Given the description of an element on the screen output the (x, y) to click on. 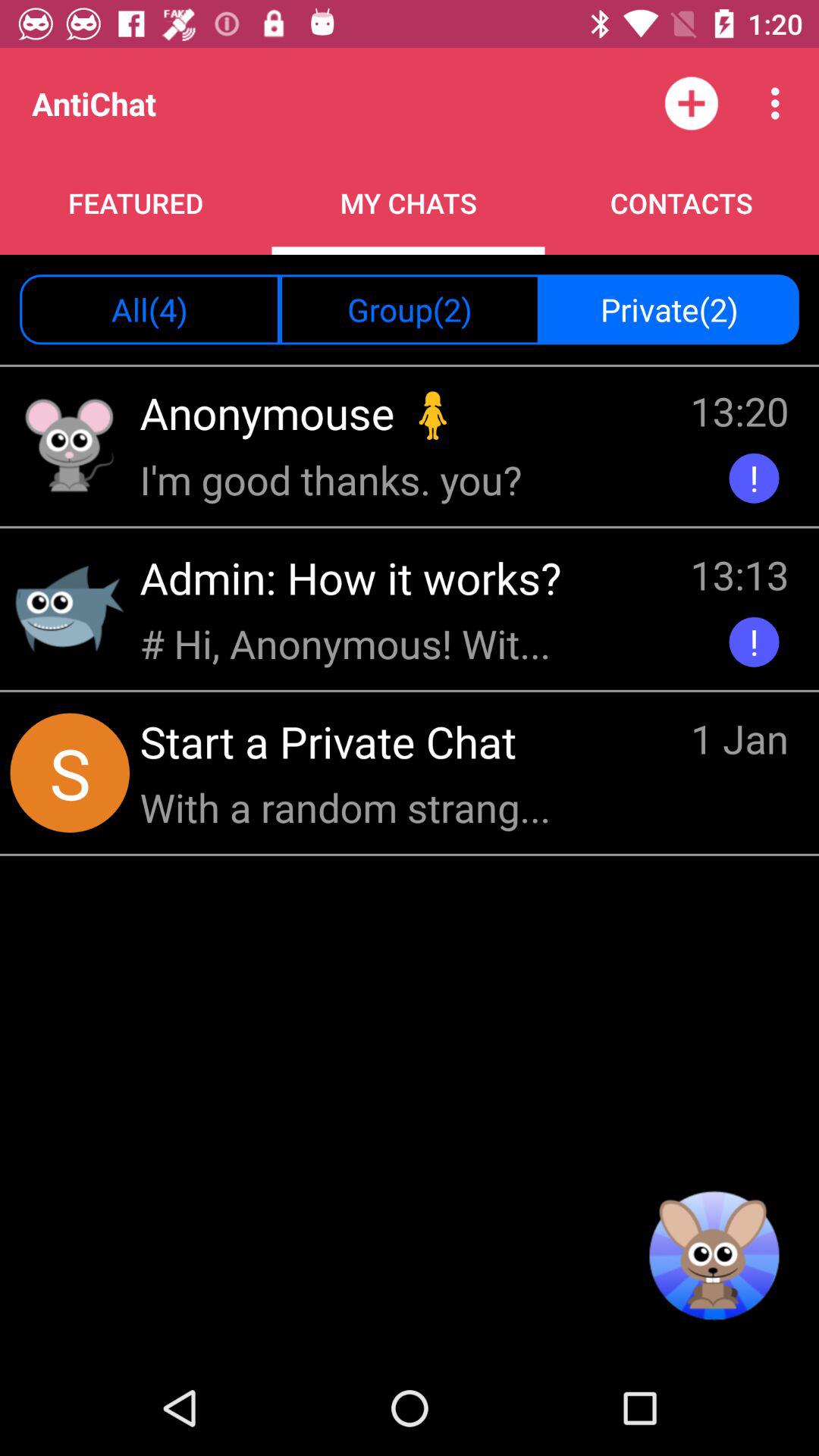
tap the icon to the left of the 13:20 icon (304, 413)
